Given the description of an element on the screen output the (x, y) to click on. 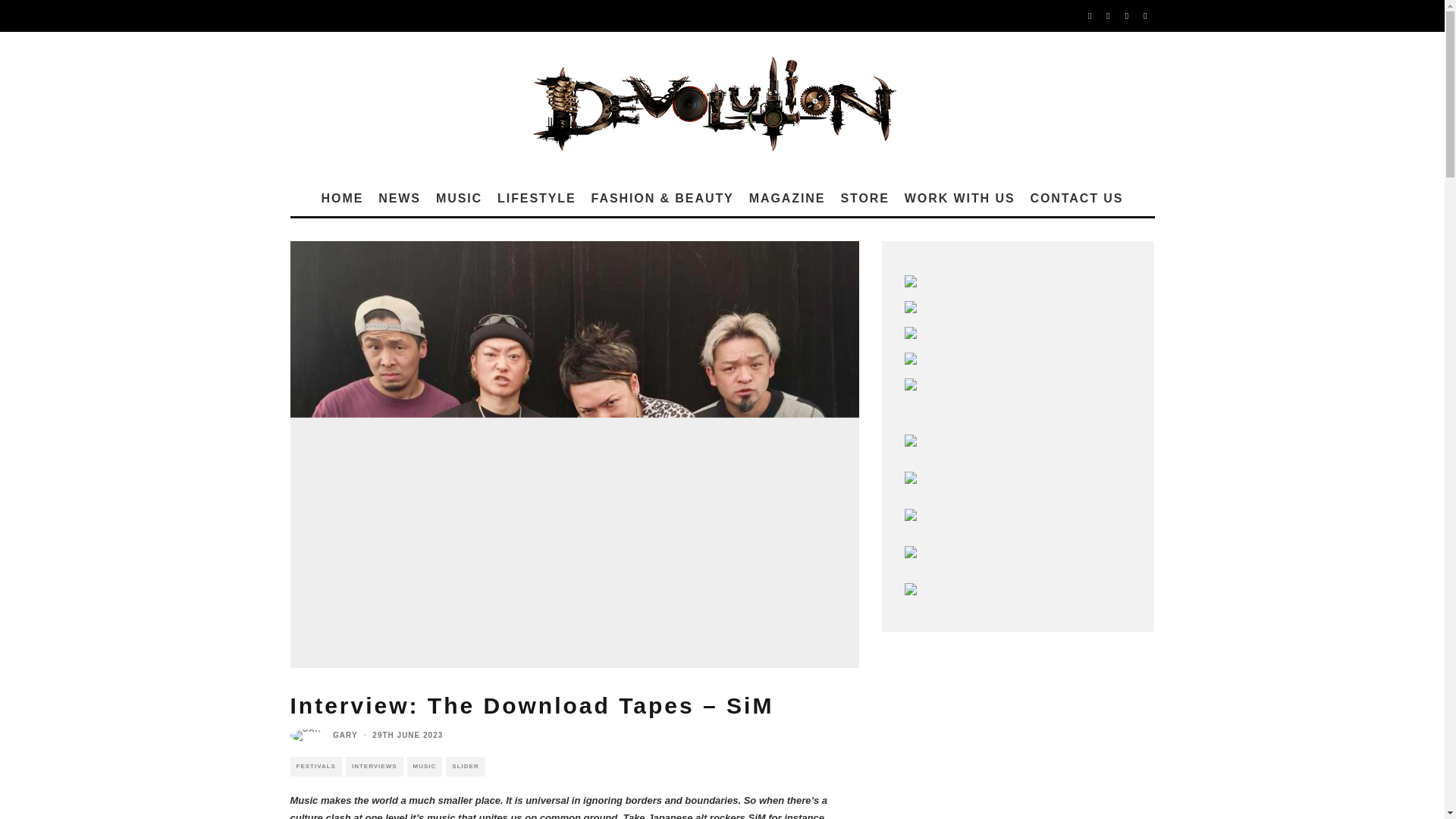
MUSIC (458, 198)
MAGAZINE (786, 198)
CONTACT US (1077, 198)
NEWS (399, 198)
LIFESTYLE (536, 198)
INTERVIEWS (374, 766)
MUSIC (424, 766)
STORE (864, 198)
HOME (342, 198)
WORK WITH US (959, 198)
